Given the description of an element on the screen output the (x, y) to click on. 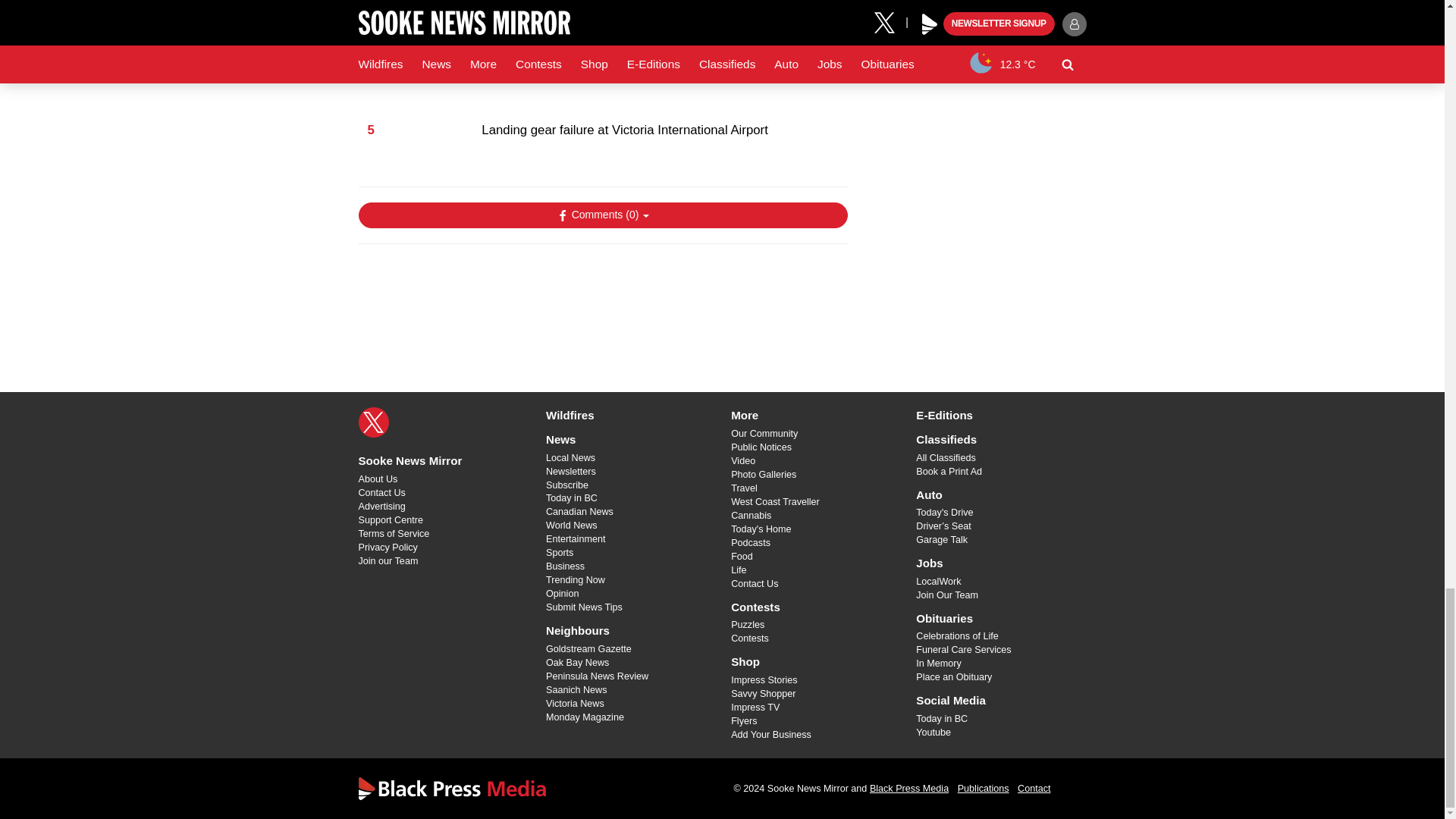
Show Comments (602, 215)
X (373, 422)
